Given the description of an element on the screen output the (x, y) to click on. 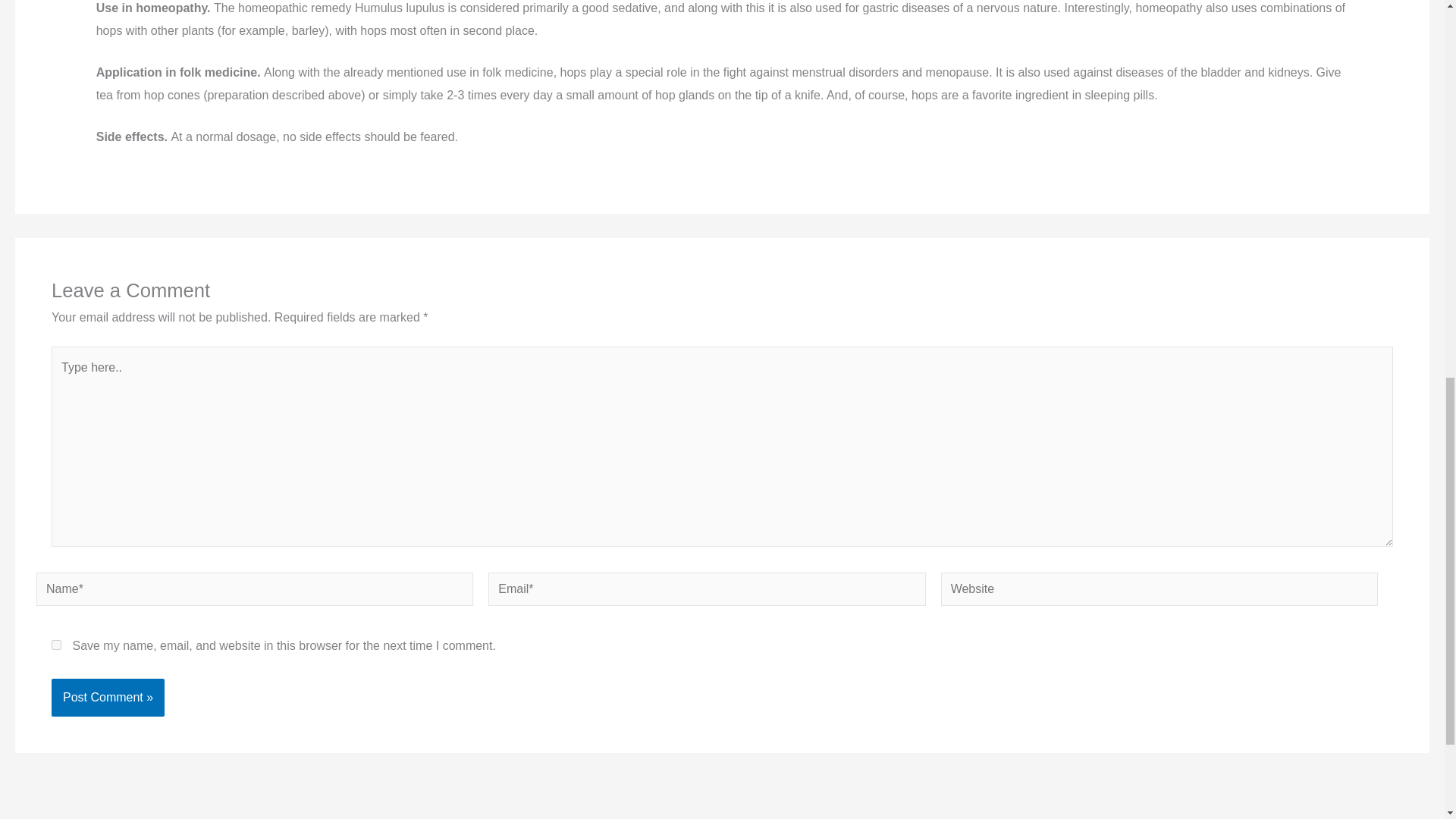
yes (55, 644)
